Given the description of an element on the screen output the (x, y) to click on. 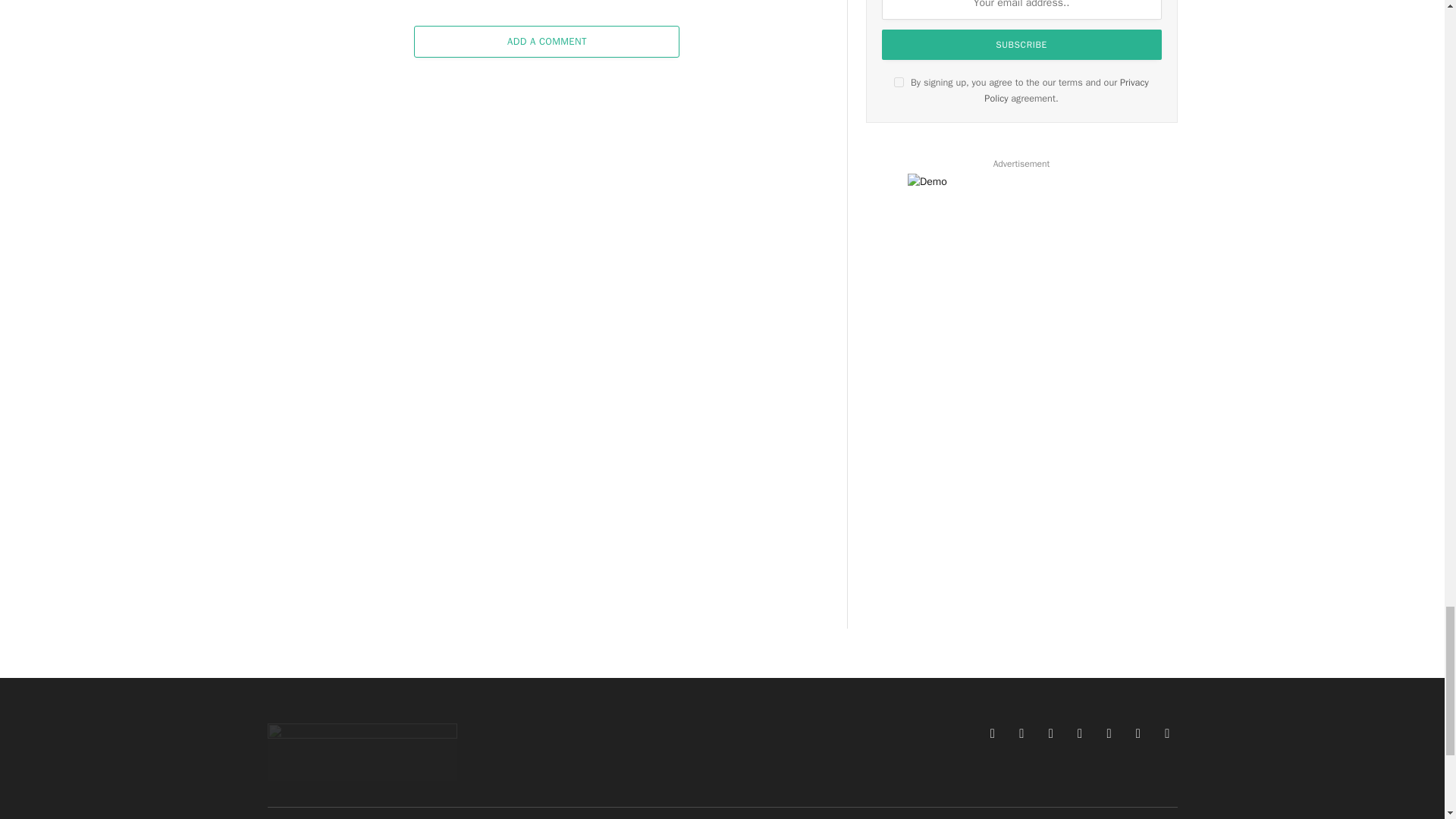
Subscribe (1021, 44)
on (898, 81)
